Given the description of an element on the screen output the (x, y) to click on. 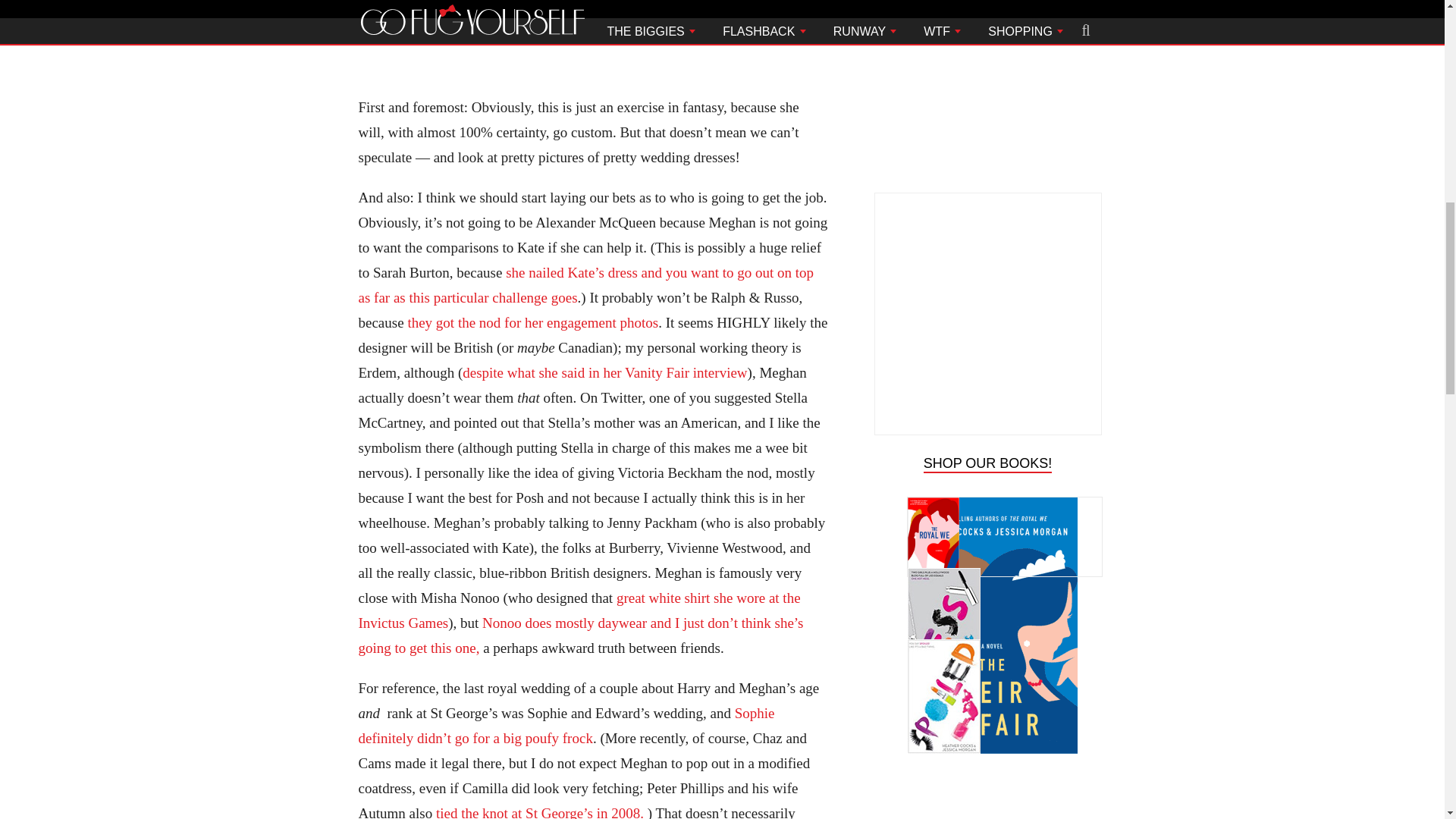
3rd party ad content (986, 54)
3rd party ad content (986, 782)
